Given the description of an element on the screen output the (x, y) to click on. 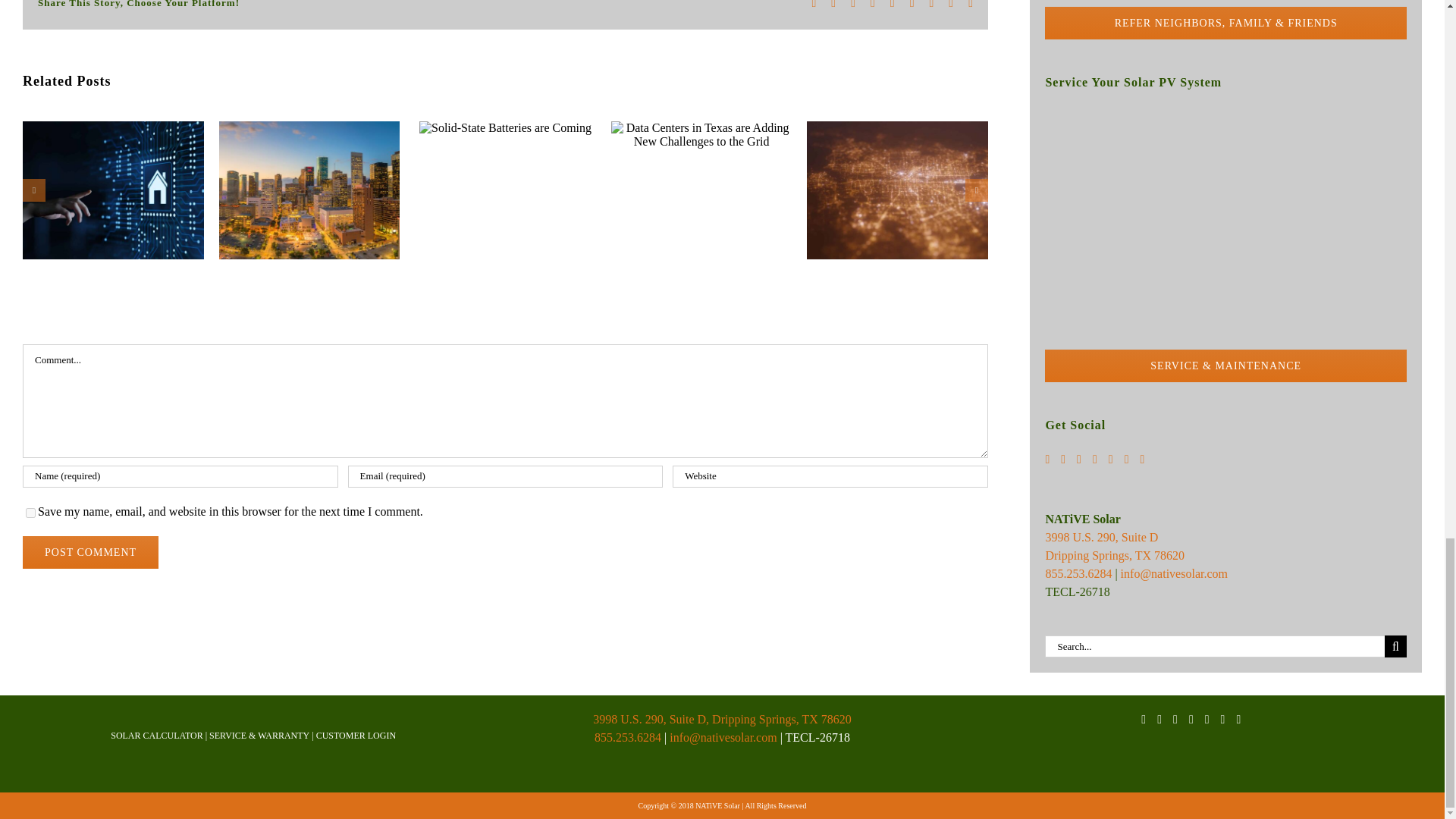
Post Comment (90, 552)
yes (30, 512)
